Given the description of an element on the screen output the (x, y) to click on. 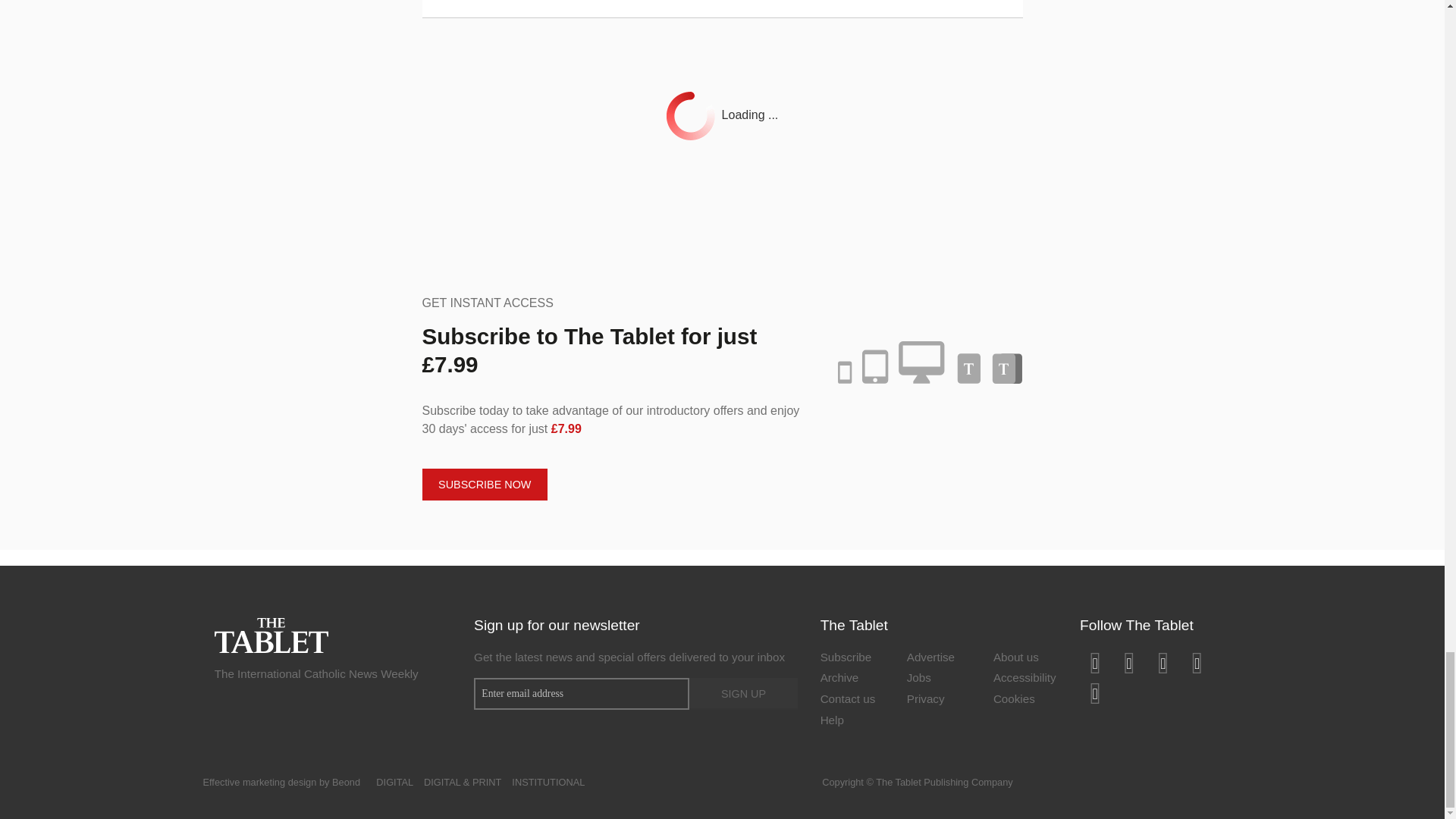
SUBSCRIBE NOW (484, 484)
Privacy (939, 700)
Help (852, 721)
Subscribe (852, 658)
Effective marketing (244, 781)
Help (852, 721)
Cookies (1024, 700)
The Tablet (271, 634)
Advertise (939, 658)
Jobs (939, 679)
Accessibility (1024, 679)
Archive (852, 679)
Contact us (852, 700)
Subscribe (852, 658)
About us (1024, 658)
